Given the description of an element on the screen output the (x, y) to click on. 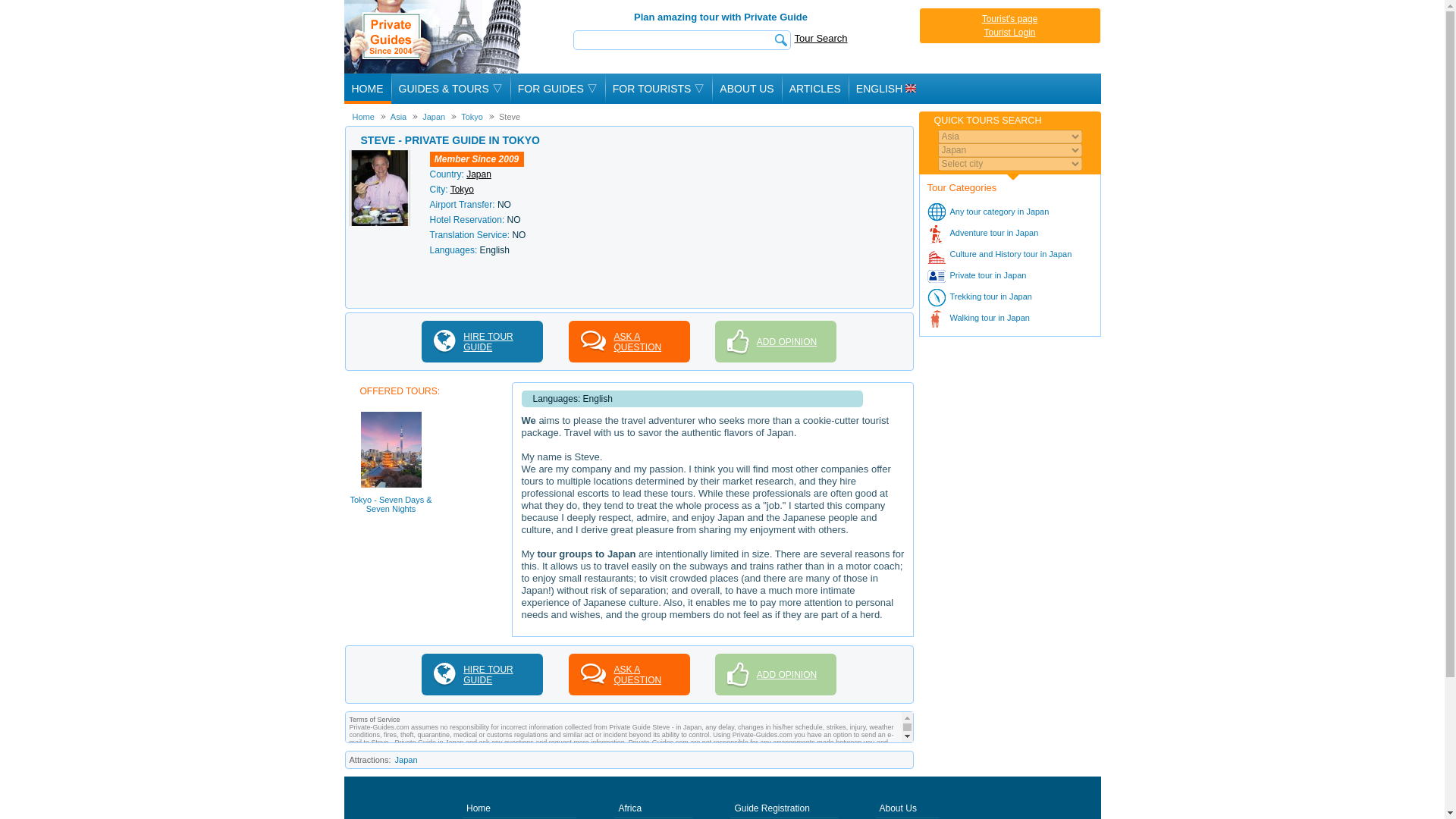
Private Guides since 2004 (433, 36)
ADD OPINION (774, 674)
Tokyo (461, 189)
ASK A QUESTION (629, 341)
Home (363, 116)
Japan (428, 116)
HOME (367, 88)
ADD OPINION (774, 341)
ARTICLES (814, 88)
Tour Search (820, 38)
Steve (504, 116)
Private Guide in Tokyo (379, 154)
HIRE TOUR GUIDE (482, 341)
Tokyo (467, 116)
Asia (393, 116)
